Given the description of an element on the screen output the (x, y) to click on. 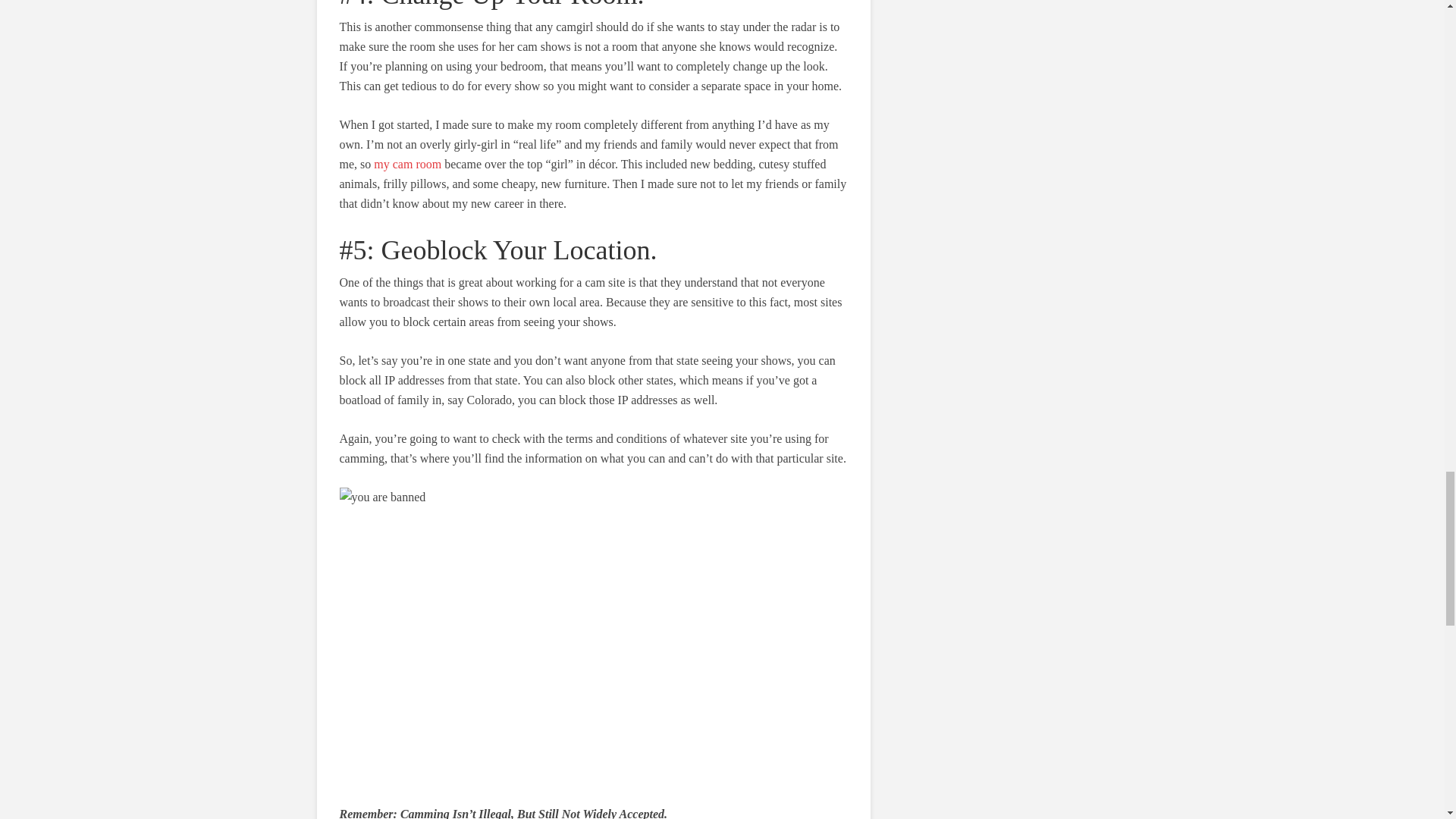
my cam room (407, 164)
